Given the description of an element on the screen output the (x, y) to click on. 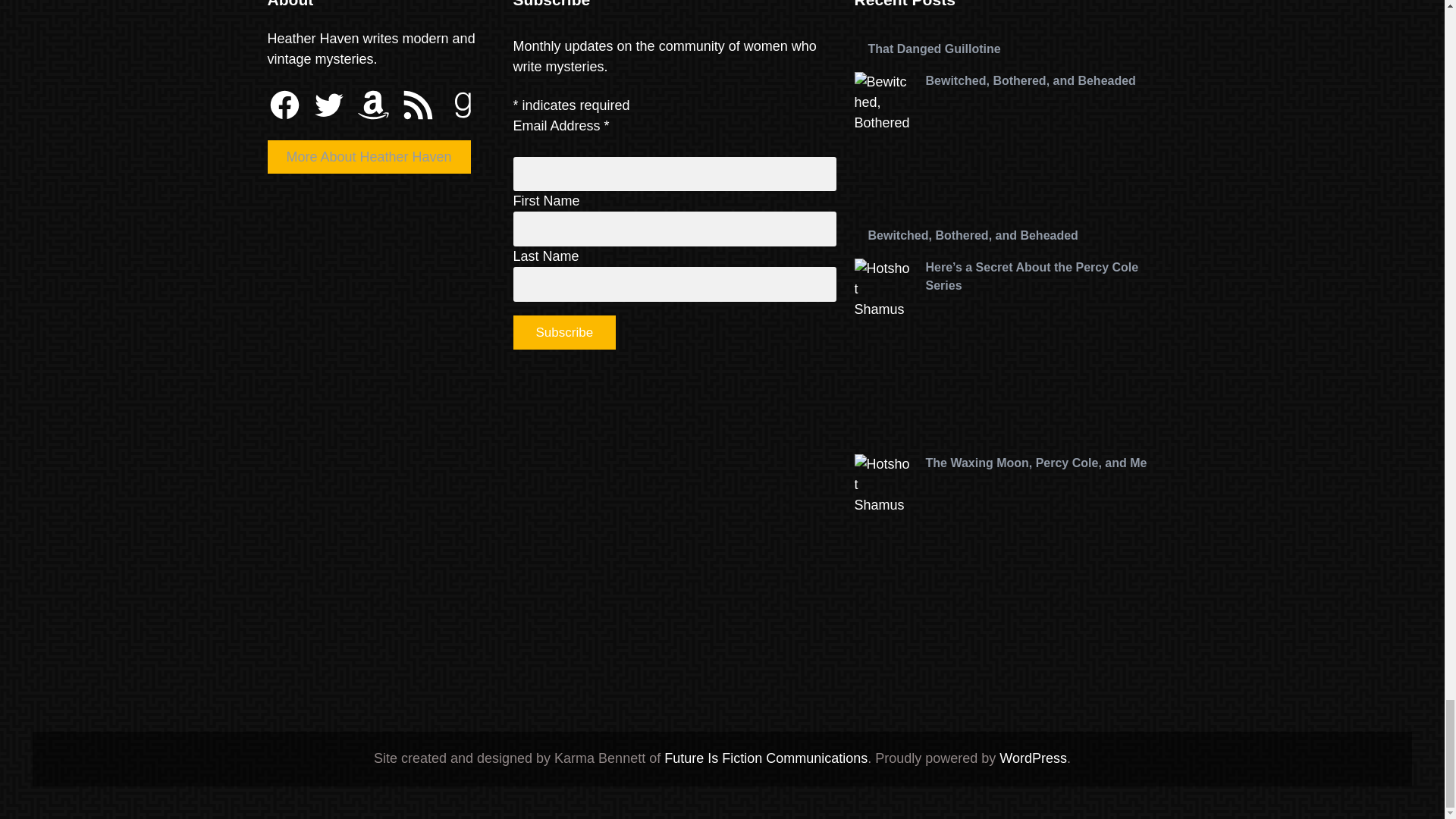
Subscribe (563, 332)
